Given the description of an element on the screen output the (x, y) to click on. 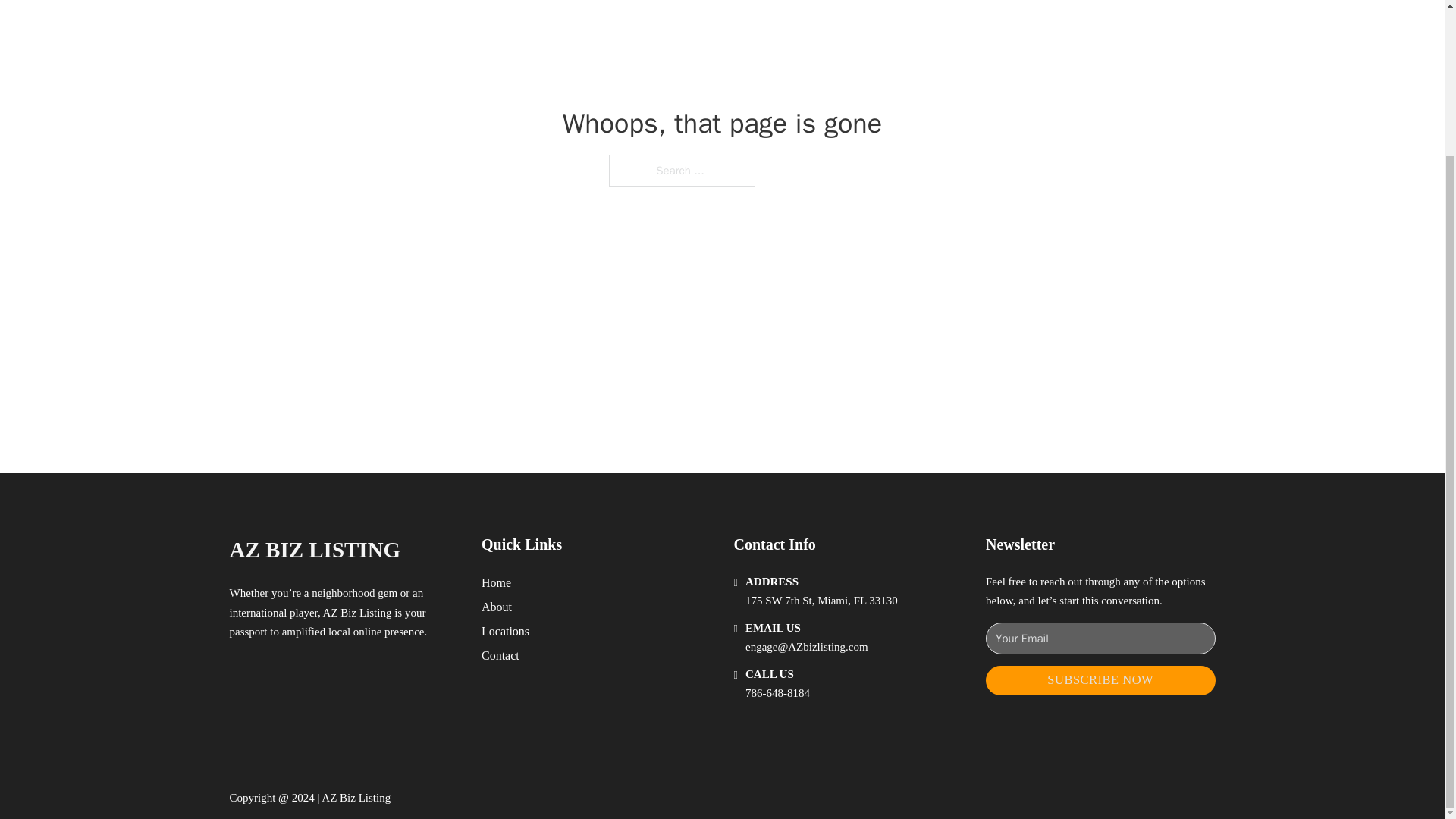
Locations (505, 630)
Contact (500, 655)
AZ BIZ LISTING (314, 549)
SUBSCRIBE NOW (1100, 680)
Home (496, 582)
786-648-8184 (777, 693)
About (496, 607)
